Given the description of an element on the screen output the (x, y) to click on. 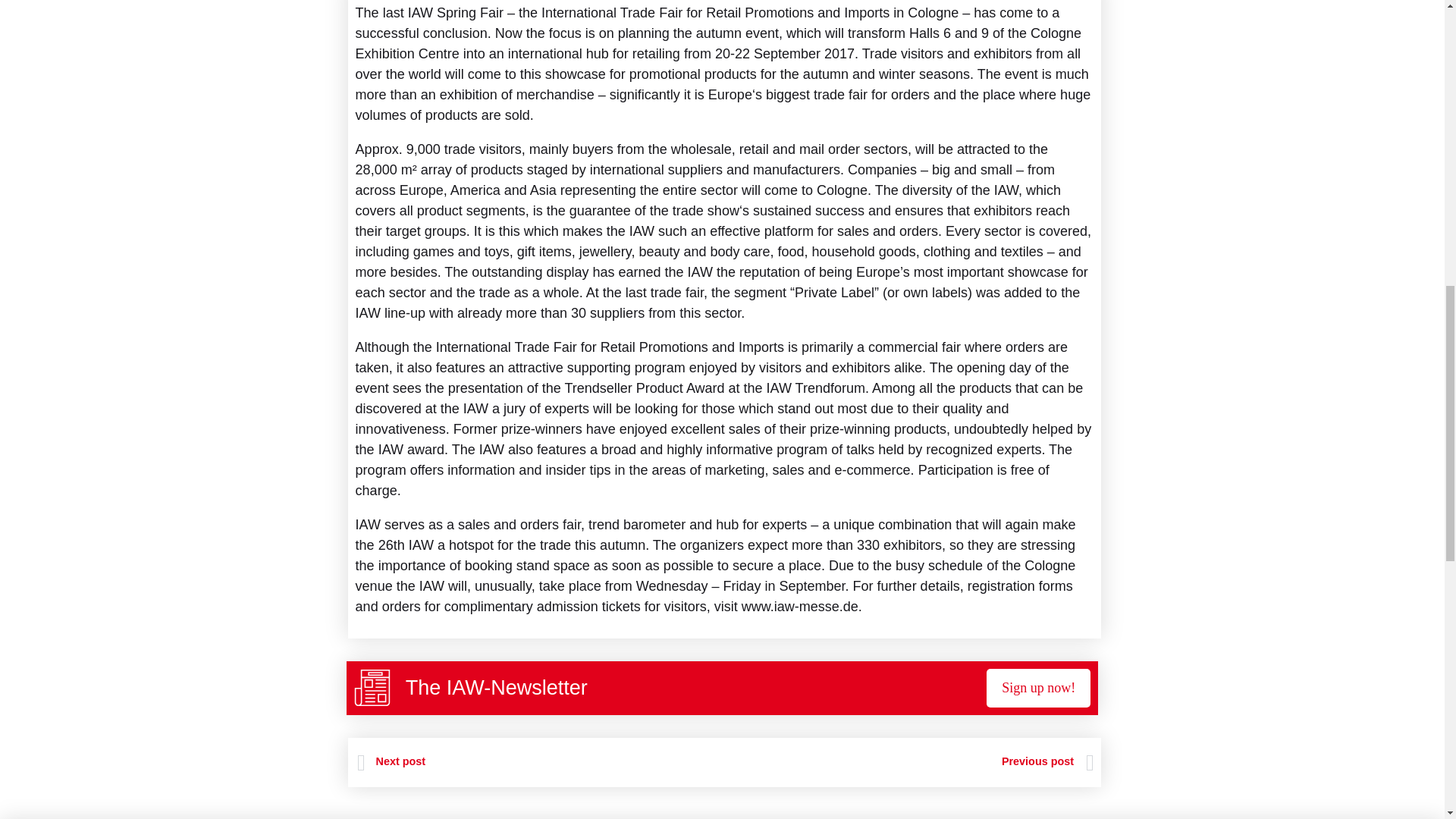
Sign up now! (1038, 688)
Previous post (909, 761)
Next post (391, 761)
